Given the description of an element on the screen output the (x, y) to click on. 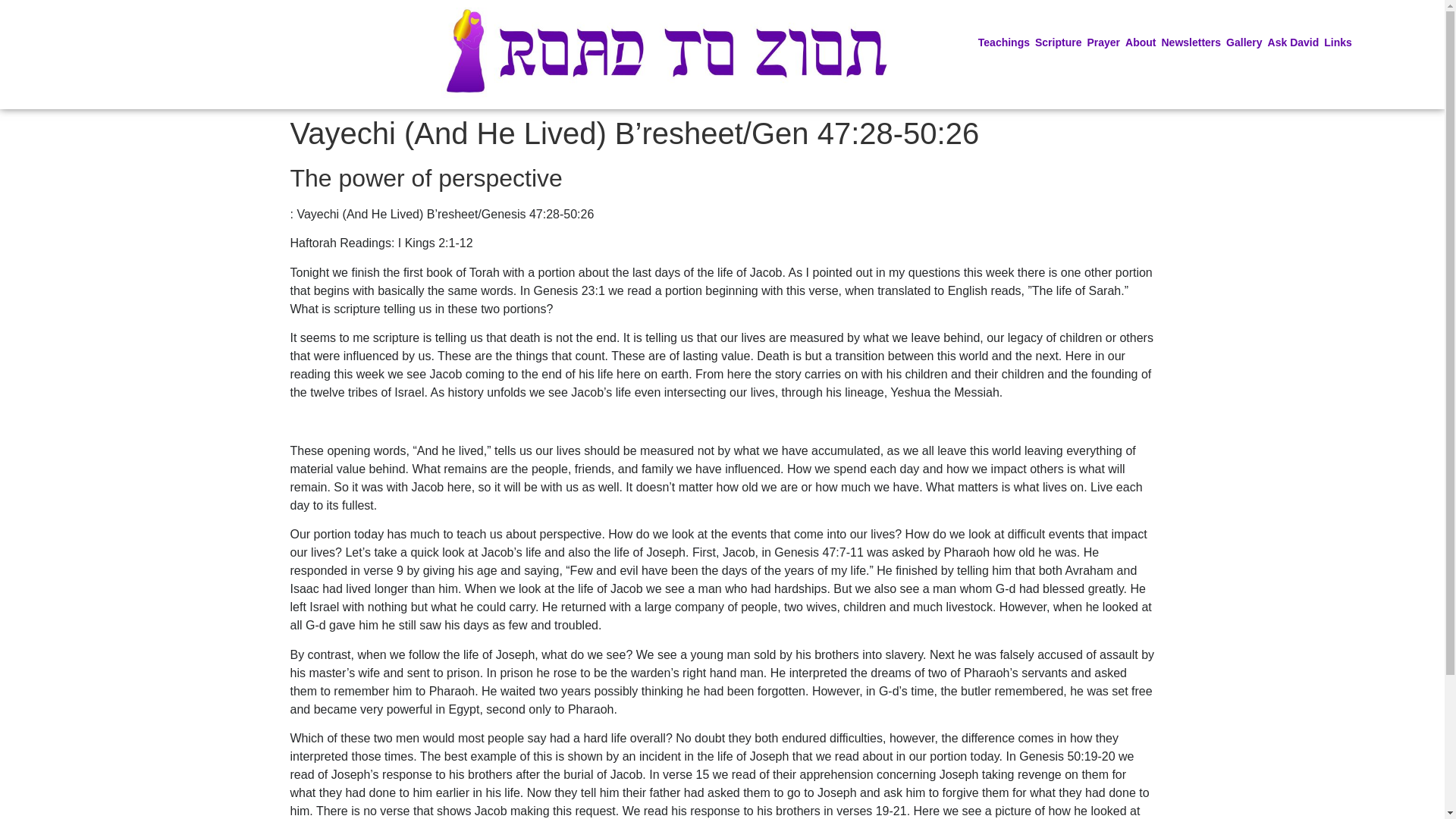
Newsletters (1194, 42)
About (1142, 42)
Ask David (1296, 42)
Gallery (1245, 42)
Prayer (1105, 42)
Scripture (1060, 42)
Teachings (1006, 42)
